Given the description of an element on the screen output the (x, y) to click on. 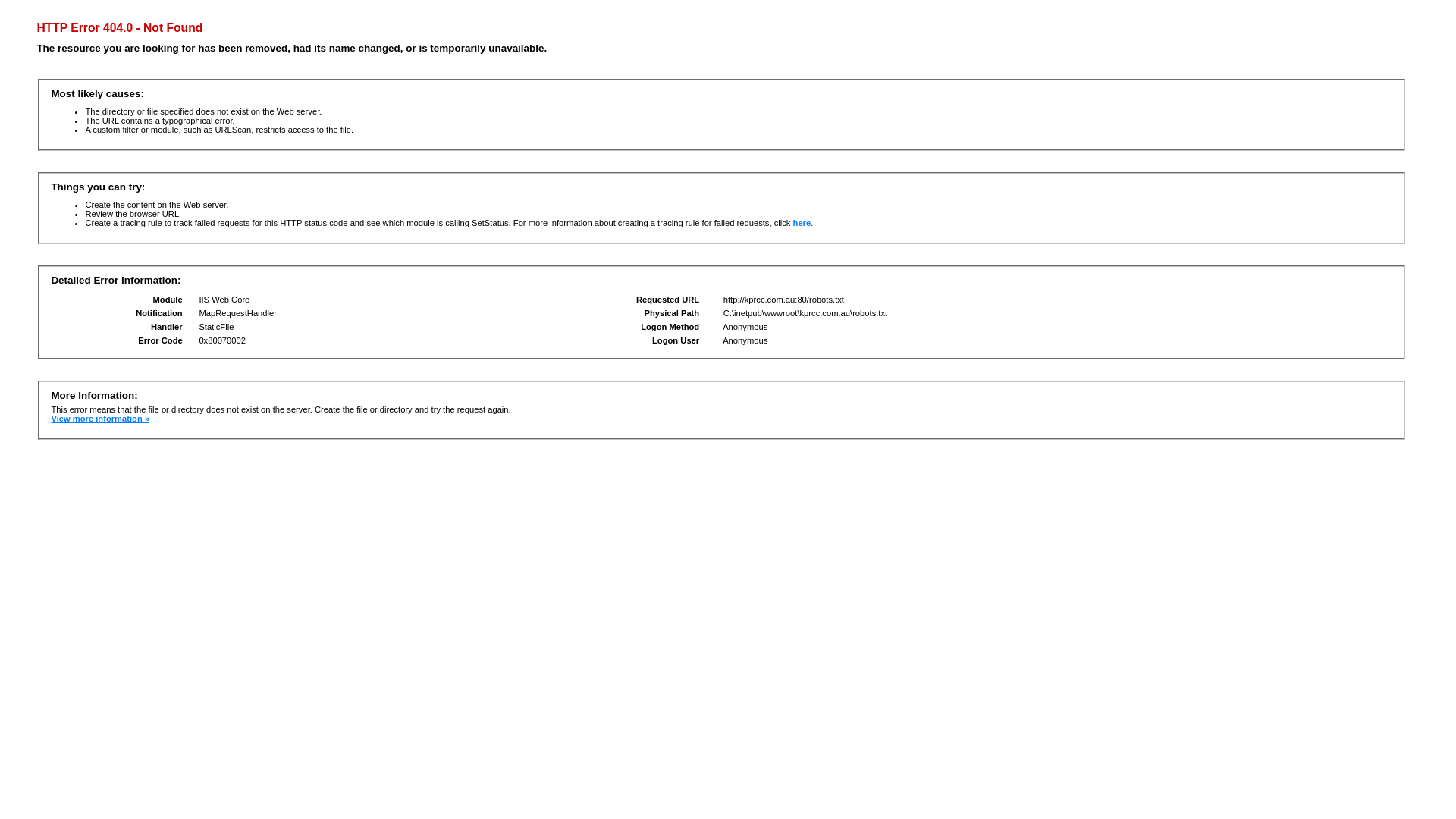
here Element type: text (802, 222)
